Given the description of an element on the screen output the (x, y) to click on. 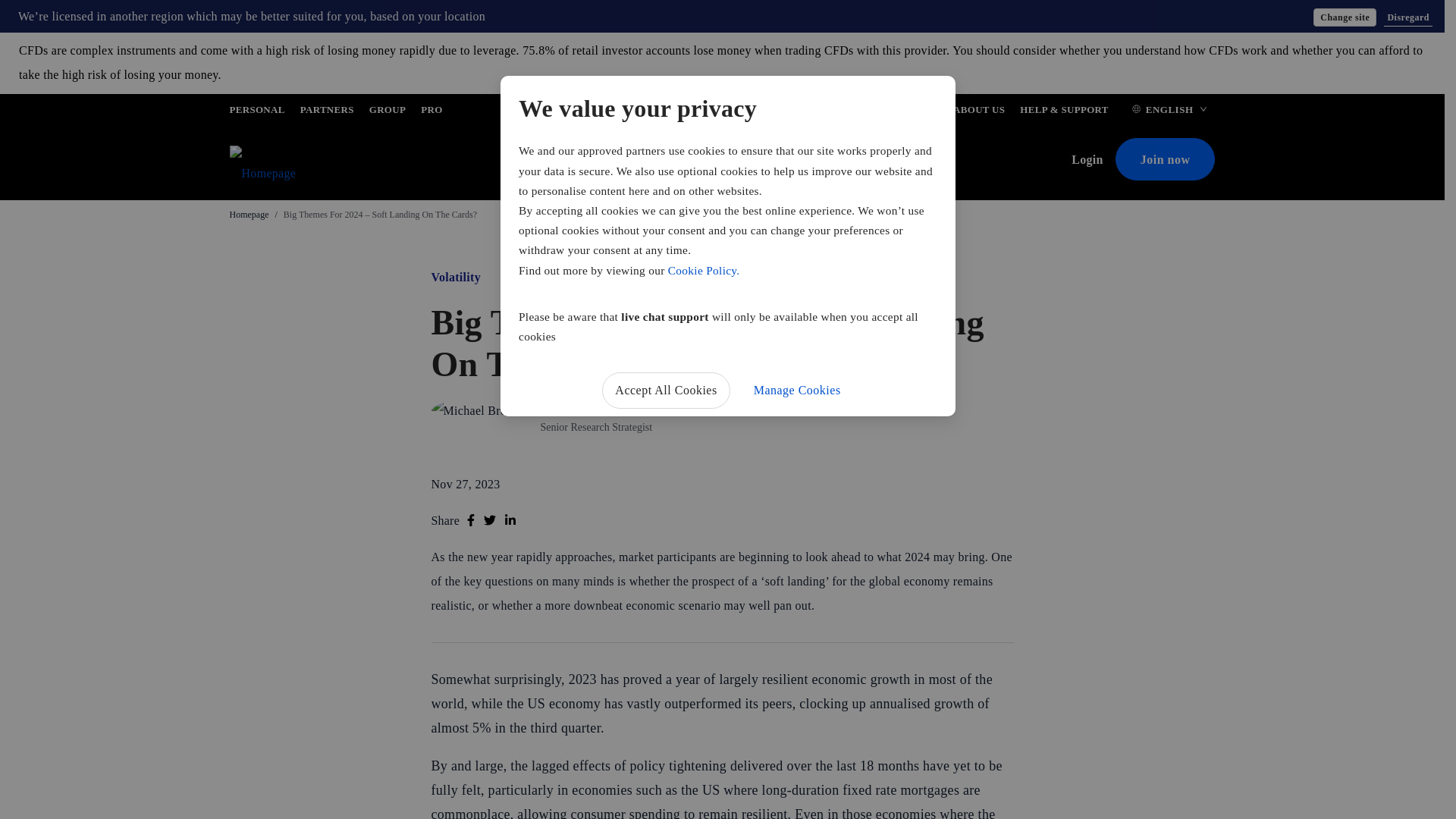
Pricing (566, 160)
Login (1093, 159)
Markets (624, 160)
PARTNERS (326, 112)
ENGLISH (1169, 112)
PERSONAL (255, 112)
PRO (431, 112)
GROUP (387, 112)
Markets (624, 160)
Analysis (753, 160)
Platforms (689, 160)
Homepage (247, 214)
PARTNERS (326, 112)
Change site (1344, 17)
Michael Brown (579, 408)
